Given the description of an element on the screen output the (x, y) to click on. 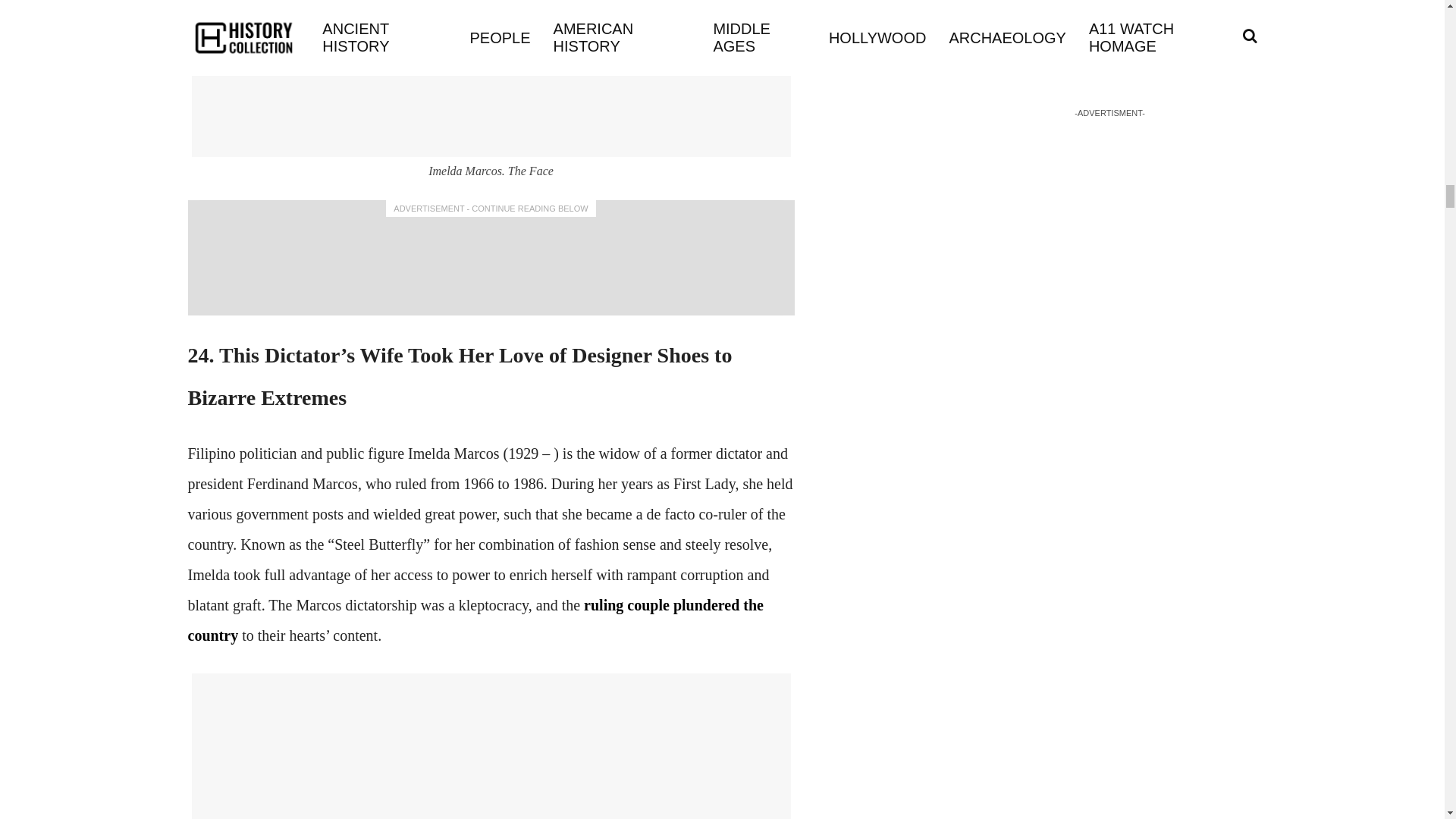
ruling couple plundered the country (475, 620)
